Given the description of an element on the screen output the (x, y) to click on. 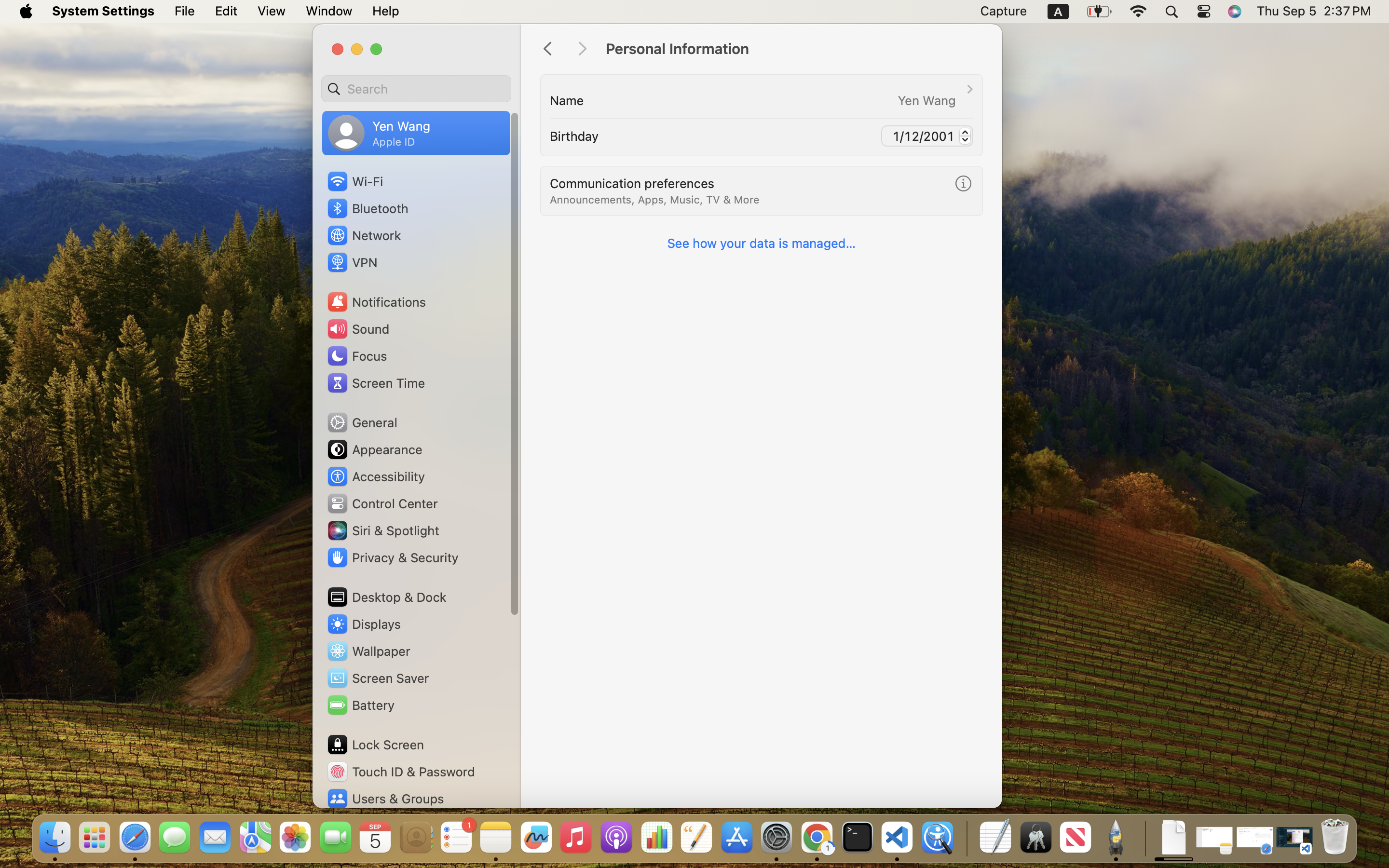
Accessibility Element type: AXStaticText (375, 476)
VPN Element type: AXStaticText (351, 261)
Screen Time Element type: AXStaticText (375, 382)
Touch ID & Password Element type: AXStaticText (400, 771)
